Given the description of an element on the screen output the (x, y) to click on. 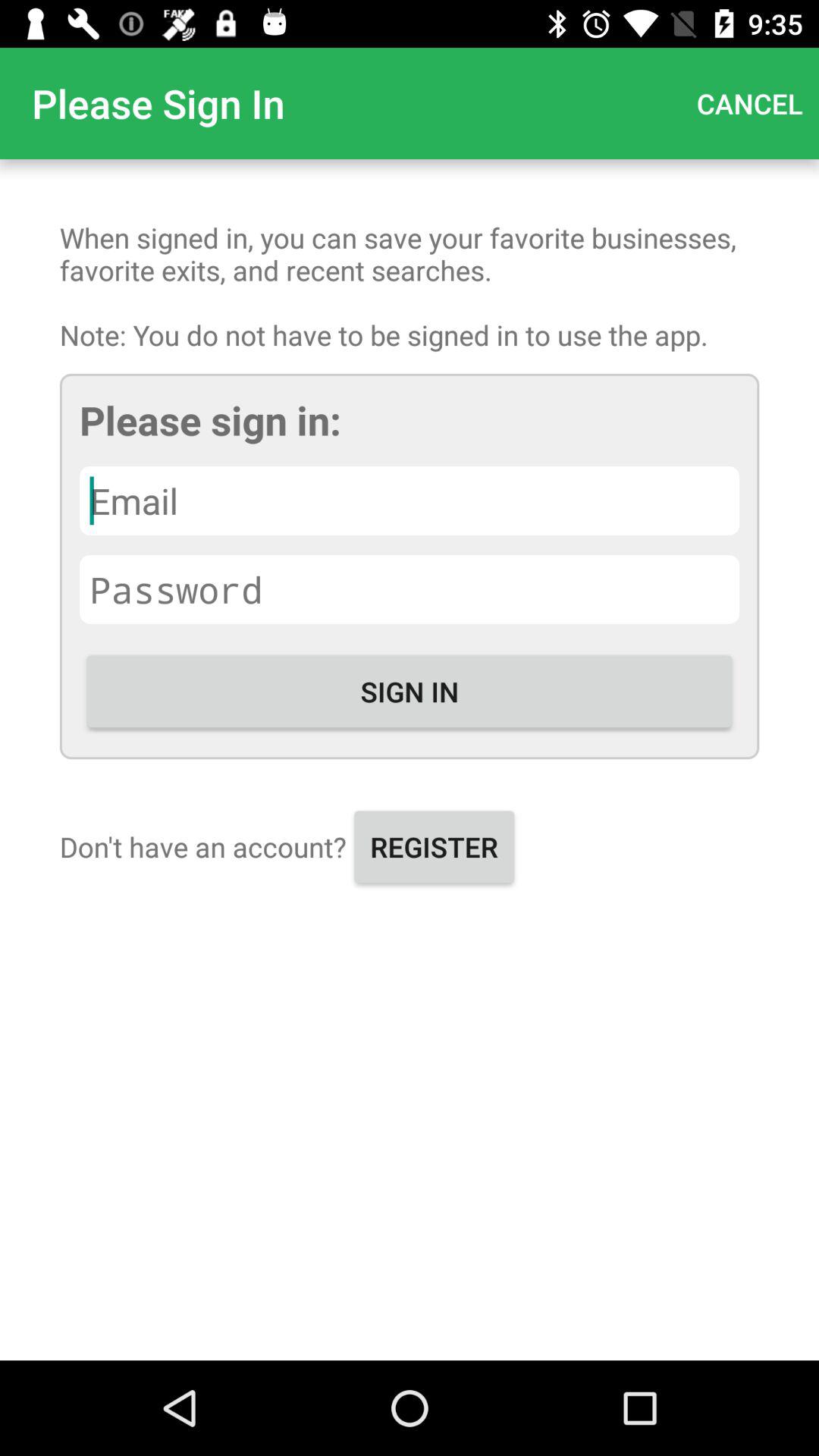
turn on the app to the right of the please sign in icon (749, 103)
